Given the description of an element on the screen output the (x, y) to click on. 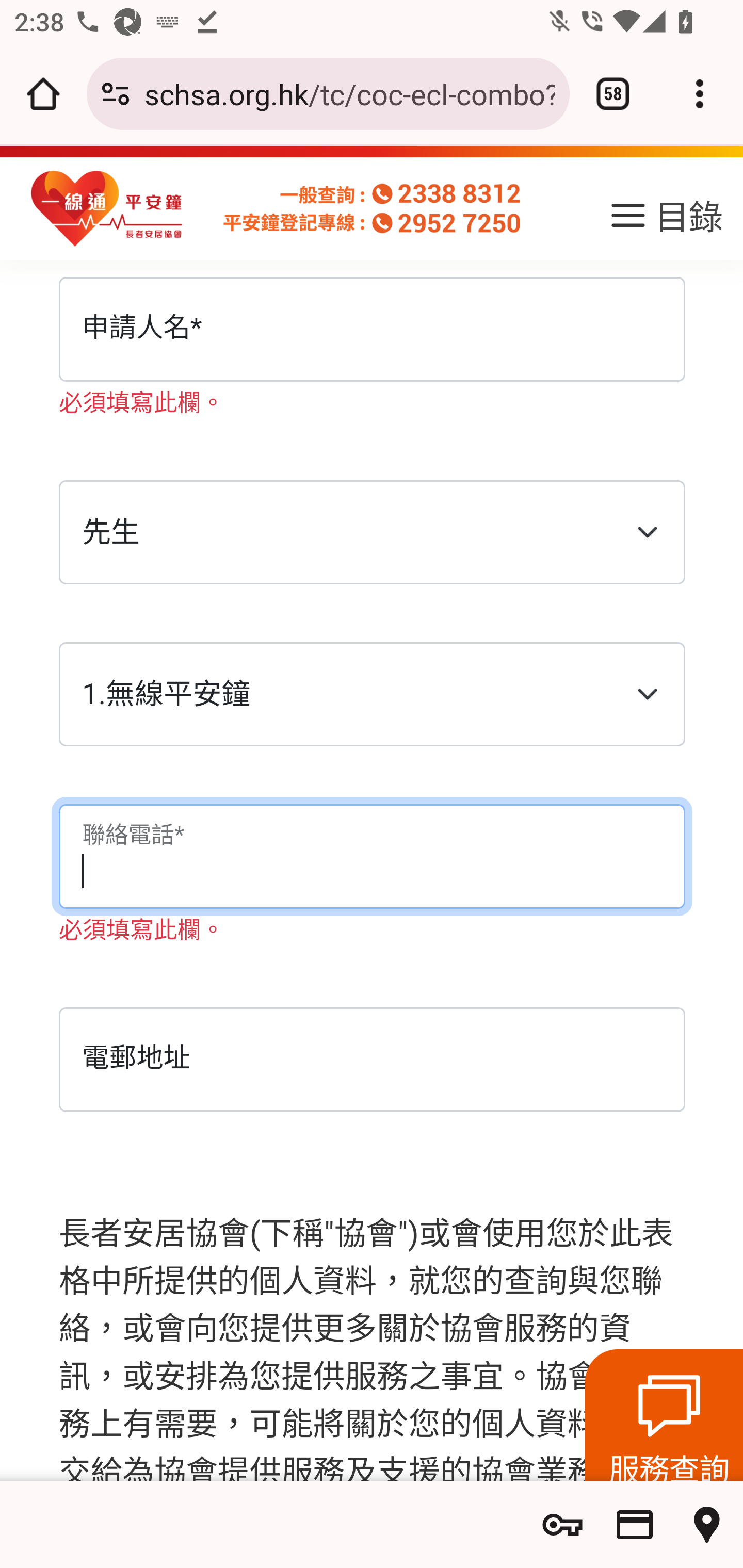
Open the home page (43, 93)
Connection is secure (115, 93)
Switch or close tabs (612, 93)
Customize and control Google Chrome (699, 93)
homepage (107, 209)
先生 (371, 532)
1.無線平安鐘 (371, 695)
Show saved passwords and password options (562, 1524)
Show saved payment methods (634, 1524)
Show saved addresses (706, 1524)
